Given the description of an element on the screen output the (x, y) to click on. 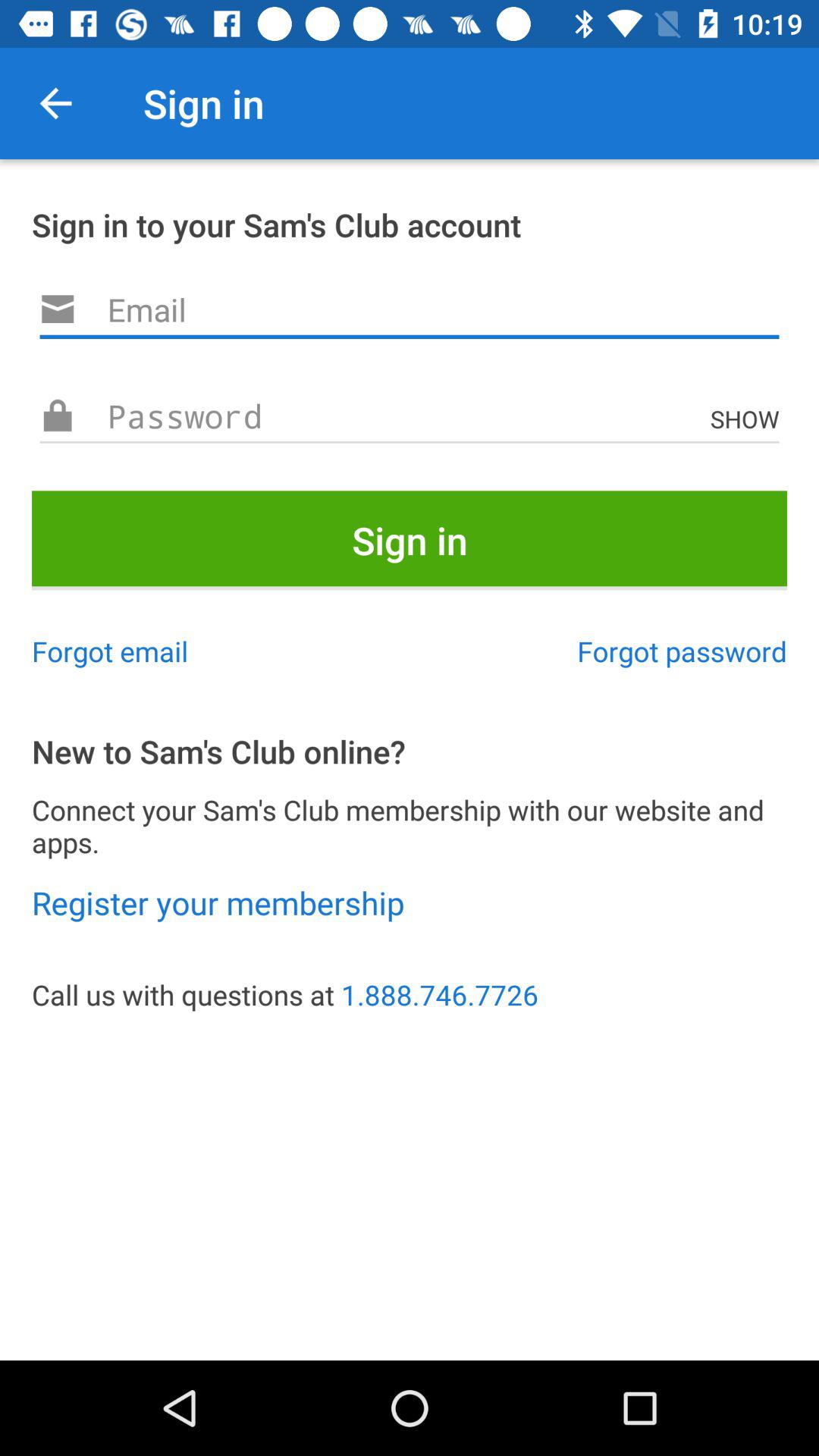
tap icon next to the sign in item (55, 103)
